Given the description of an element on the screen output the (x, y) to click on. 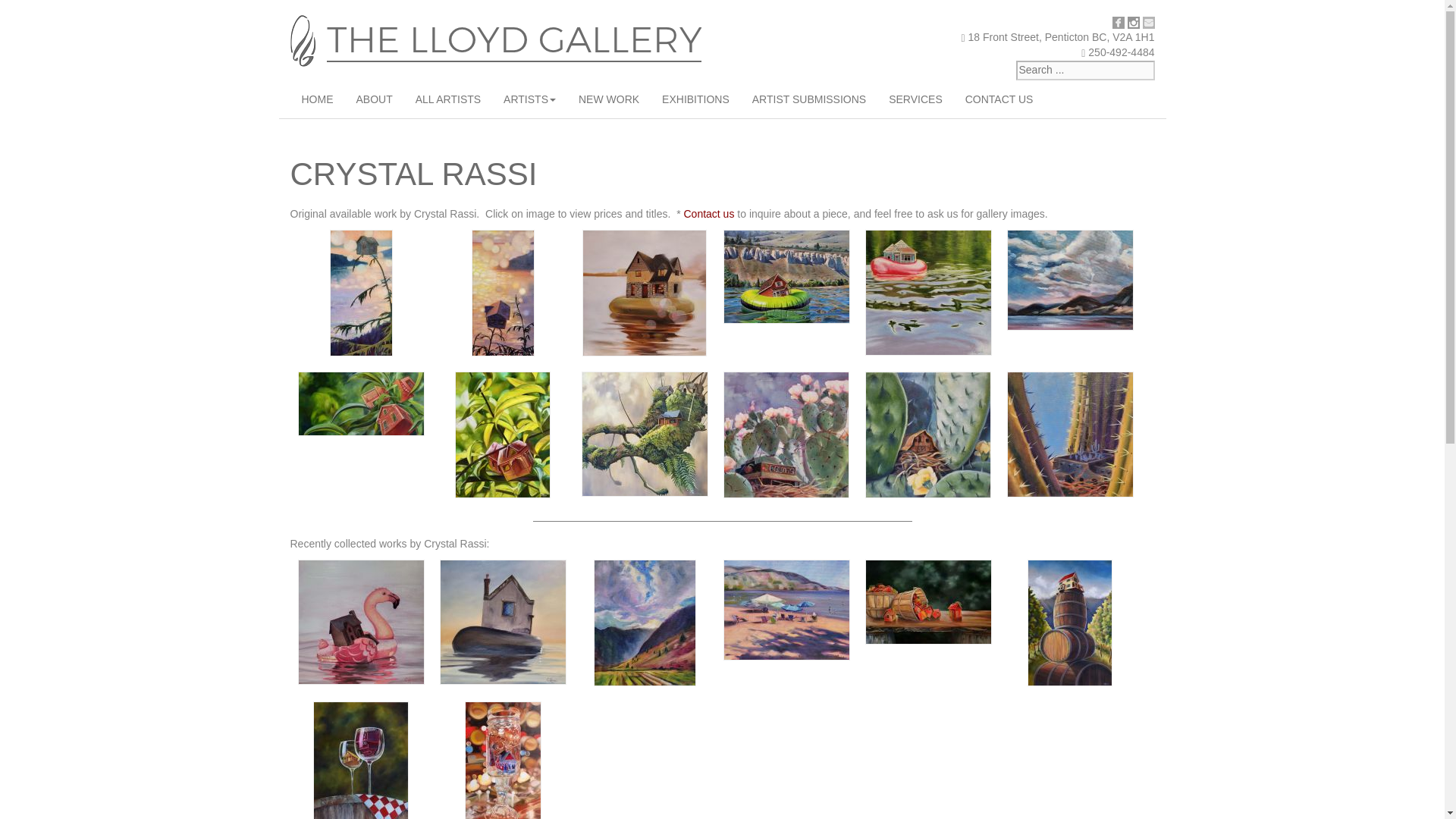
HOME (316, 98)
ABOUT (373, 98)
ALL ARTISTS (448, 98)
ARTISTS (529, 98)
